Given the description of an element on the screen output the (x, y) to click on. 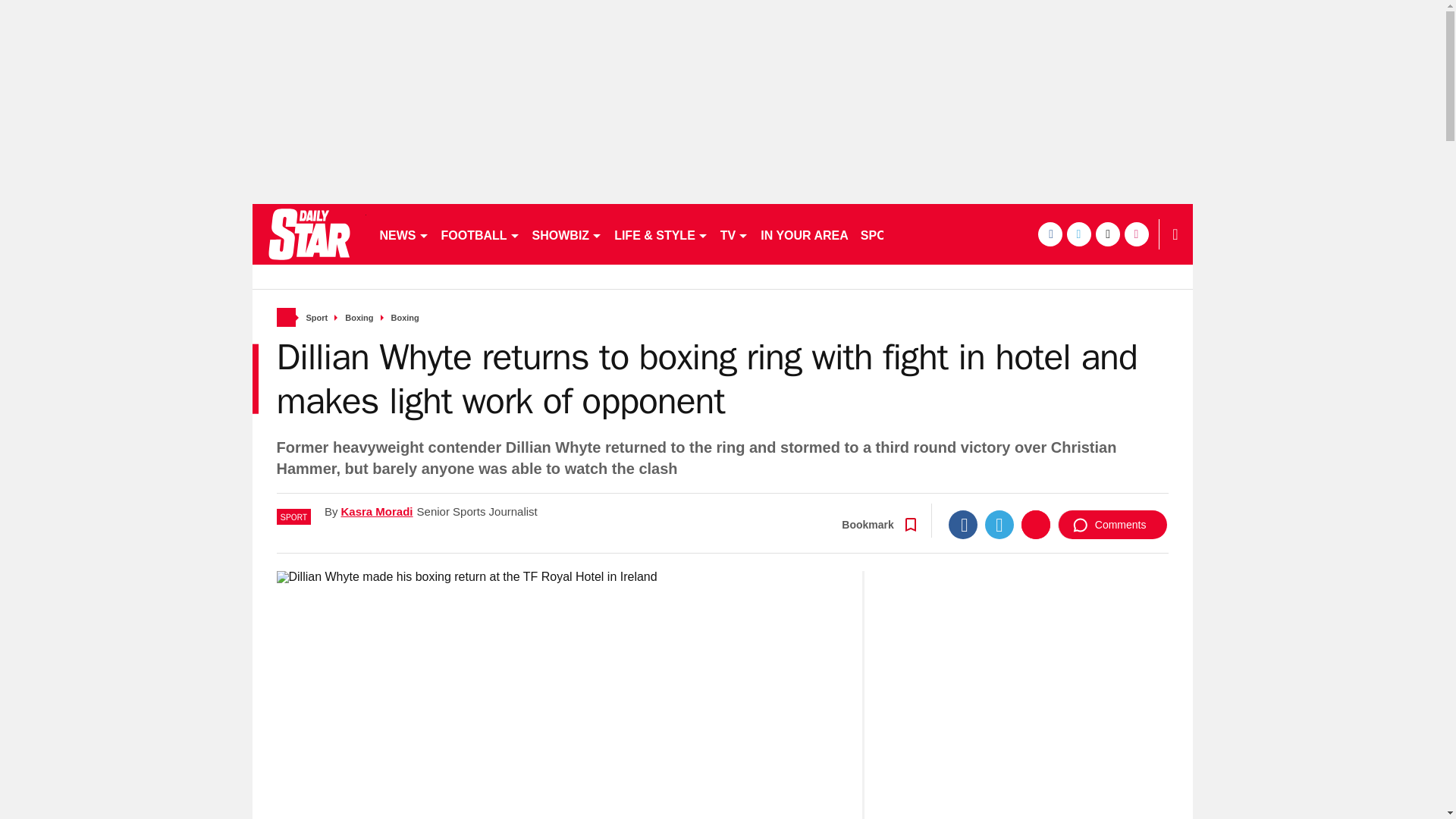
twitter (1077, 233)
Twitter (999, 524)
FOOTBALL (480, 233)
NEWS (402, 233)
Facebook (962, 524)
SHOWBIZ (566, 233)
Comments (1112, 524)
instagram (1136, 233)
facebook (1048, 233)
dailystar (308, 233)
